Given the description of an element on the screen output the (x, y) to click on. 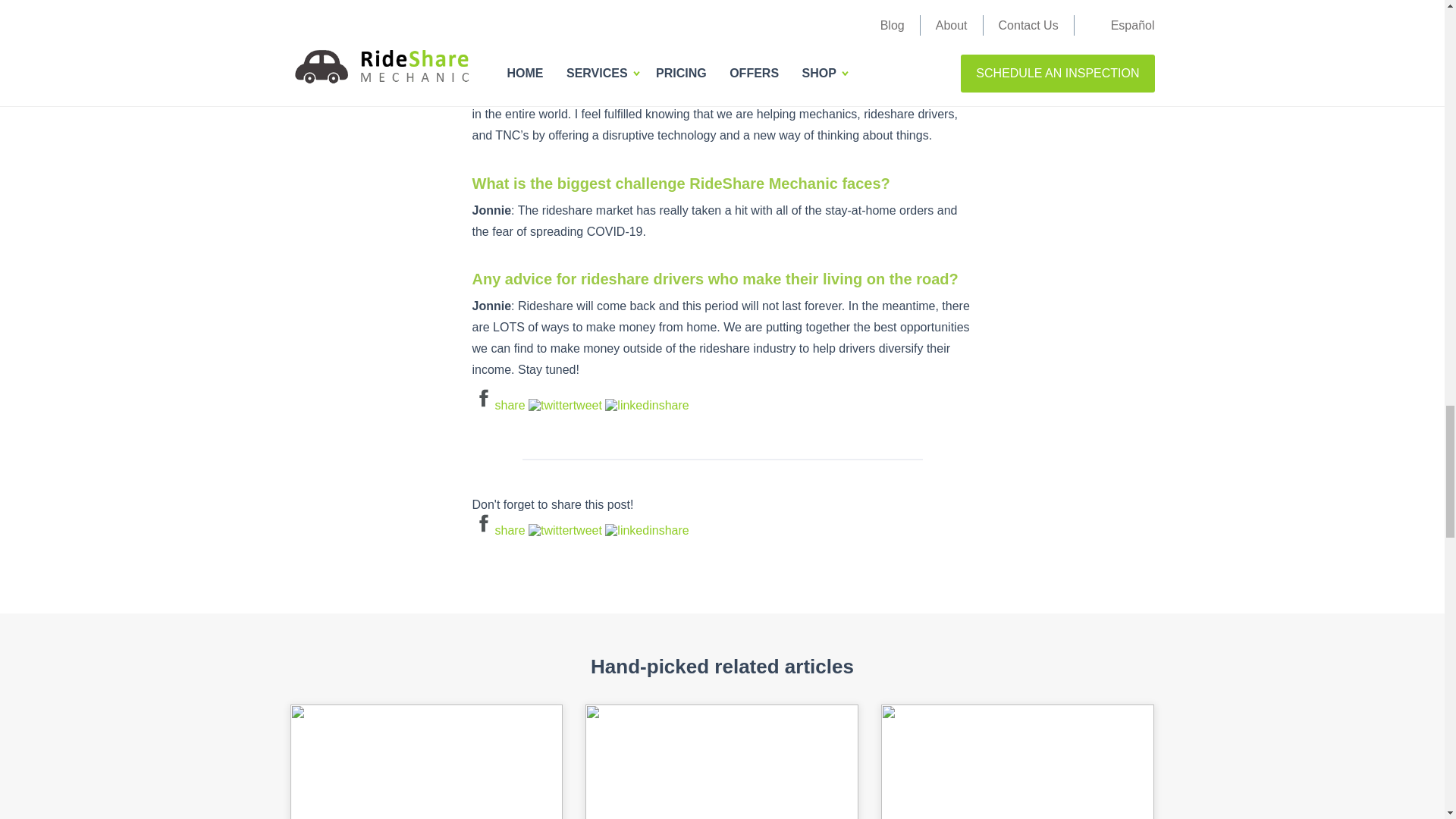
facebook (497, 404)
twitter (565, 530)
twitter (565, 404)
share (646, 404)
linkedin (646, 404)
share (497, 530)
share (497, 404)
tweet (565, 404)
linkedin (646, 530)
facebook (497, 530)
